Given the description of an element on the screen output the (x, y) to click on. 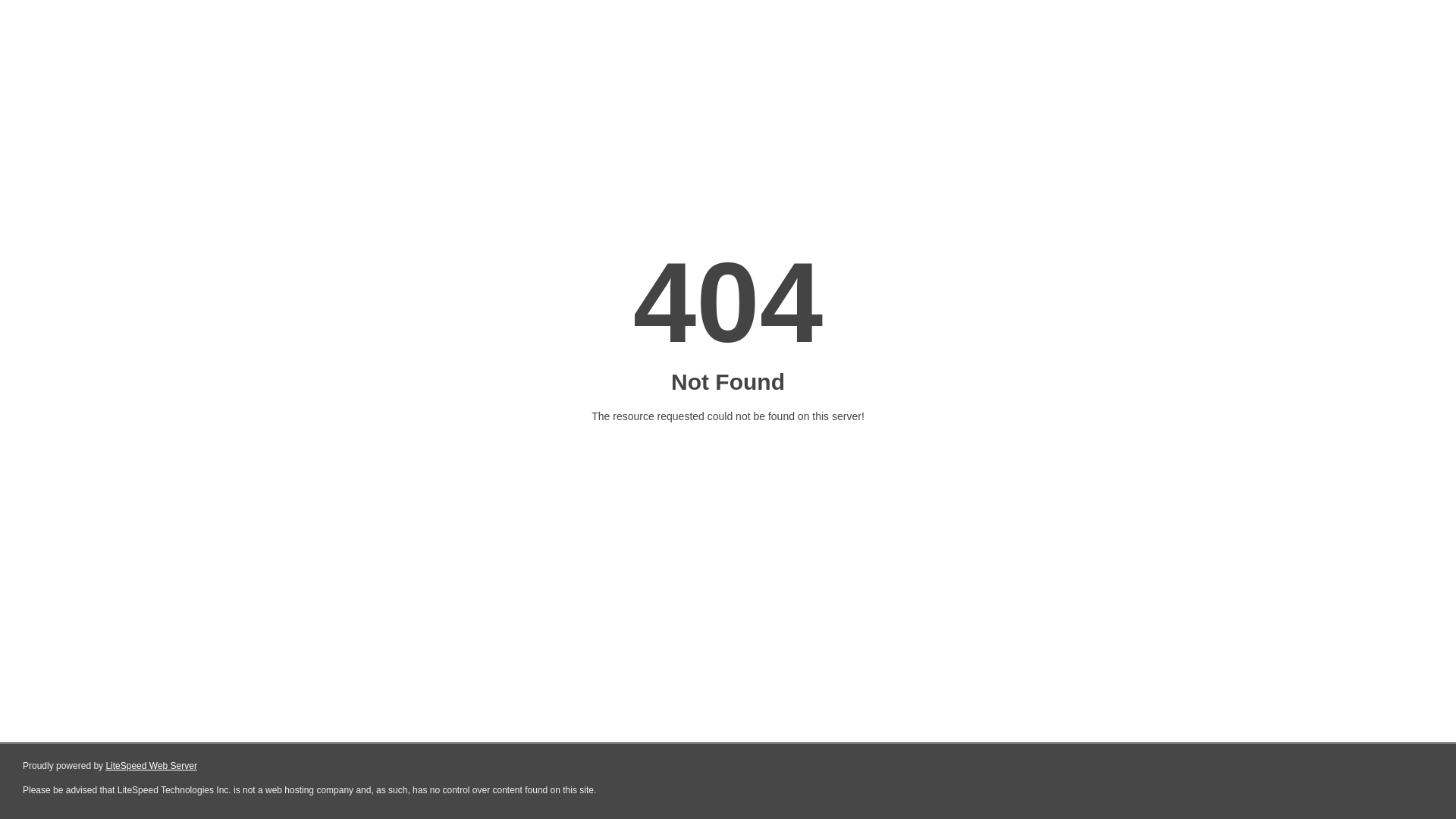
LiteSpeed Web Server Element type: text (151, 765)
